Given the description of an element on the screen output the (x, y) to click on. 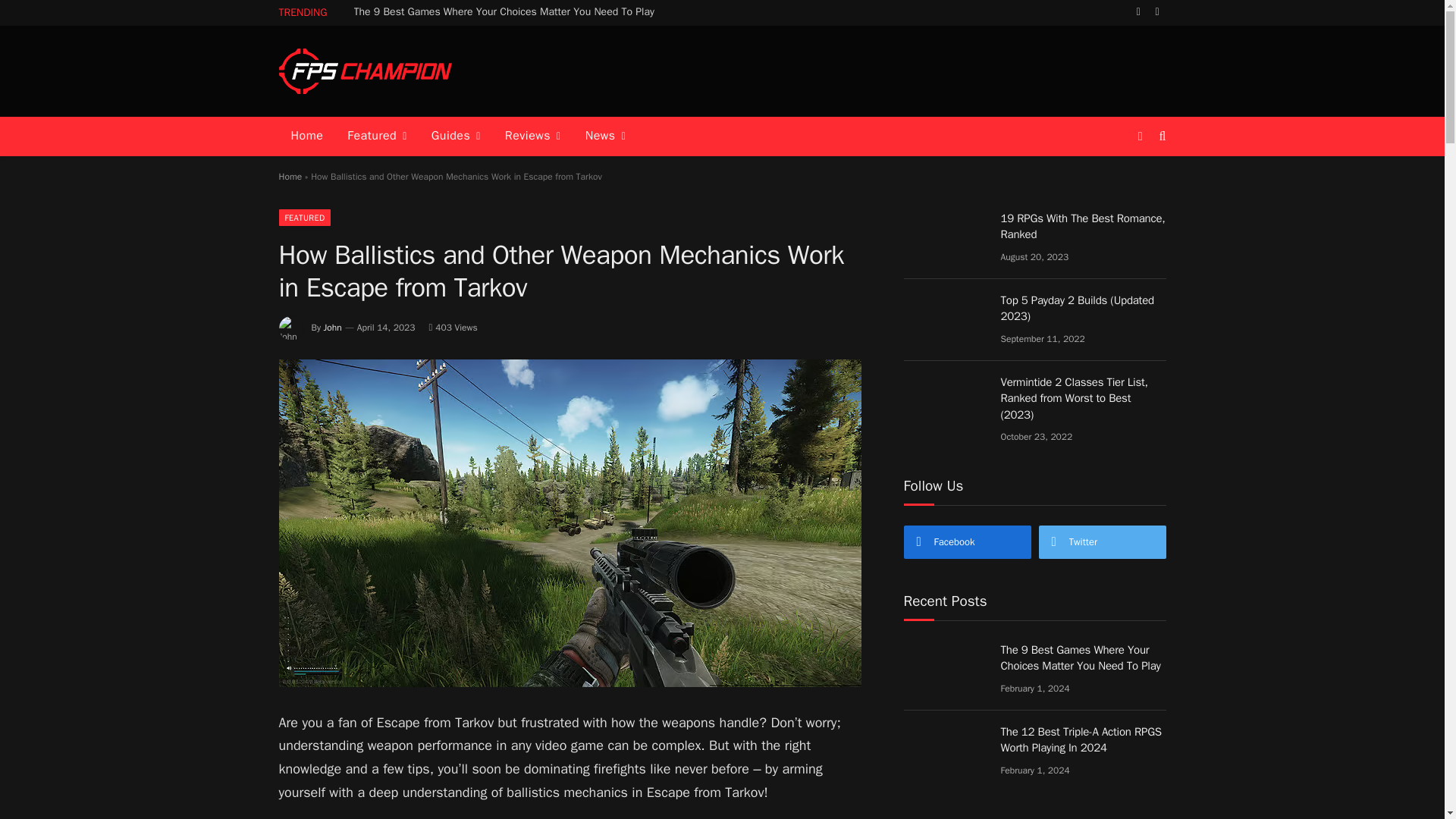
Reviews (533, 136)
FPS Champion (365, 70)
Home (307, 136)
Featured (376, 136)
Guides (456, 136)
The 9 Best Games Where Your Choices Matter You Need To Play (507, 11)
